Given the description of an element on the screen output the (x, y) to click on. 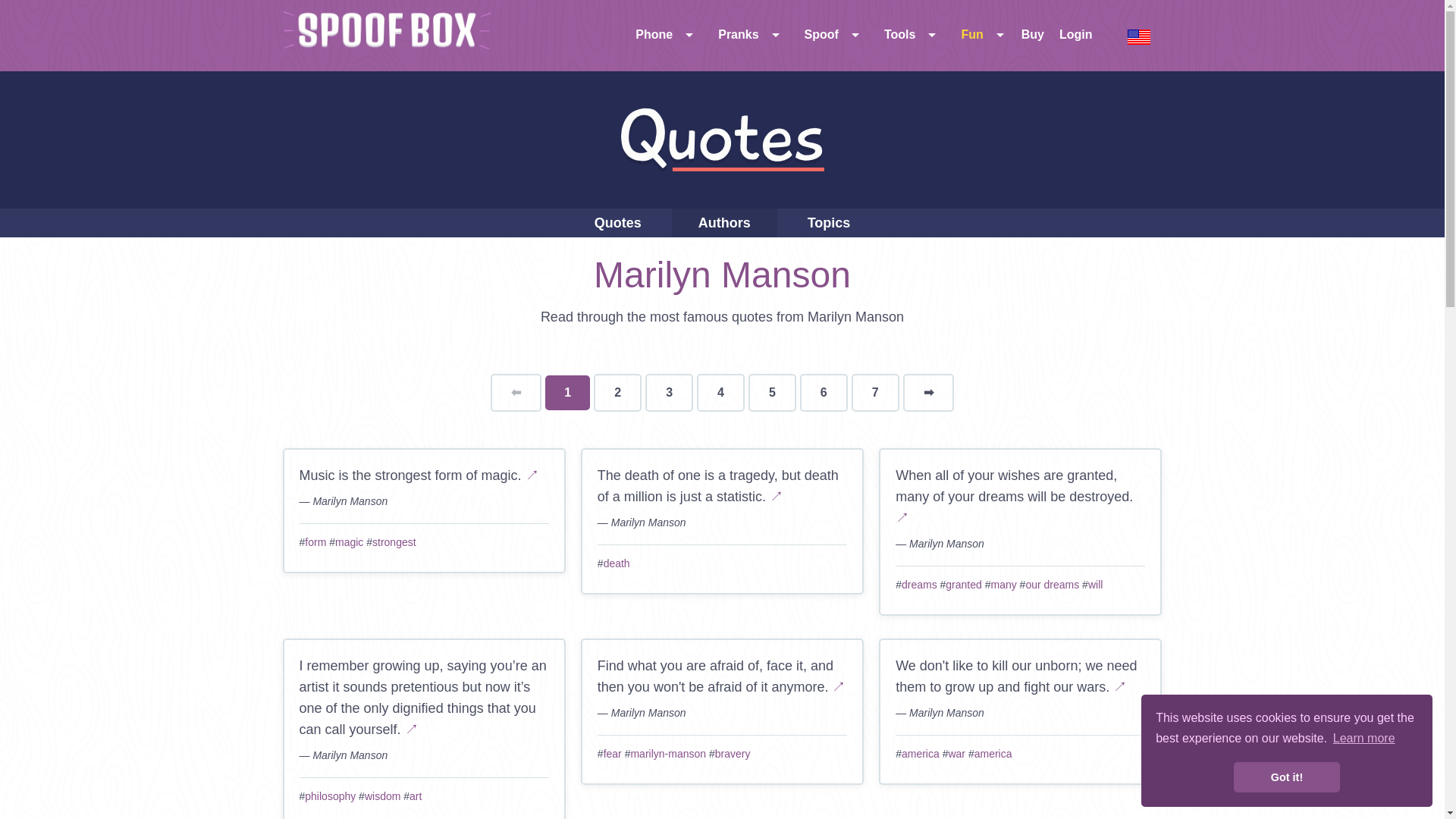
Got it! (1286, 777)
Change language (1138, 35)
Quote: Music is the strongest form of magic. (531, 475)
Learn more (1363, 738)
